Given the description of an element on the screen output the (x, y) to click on. 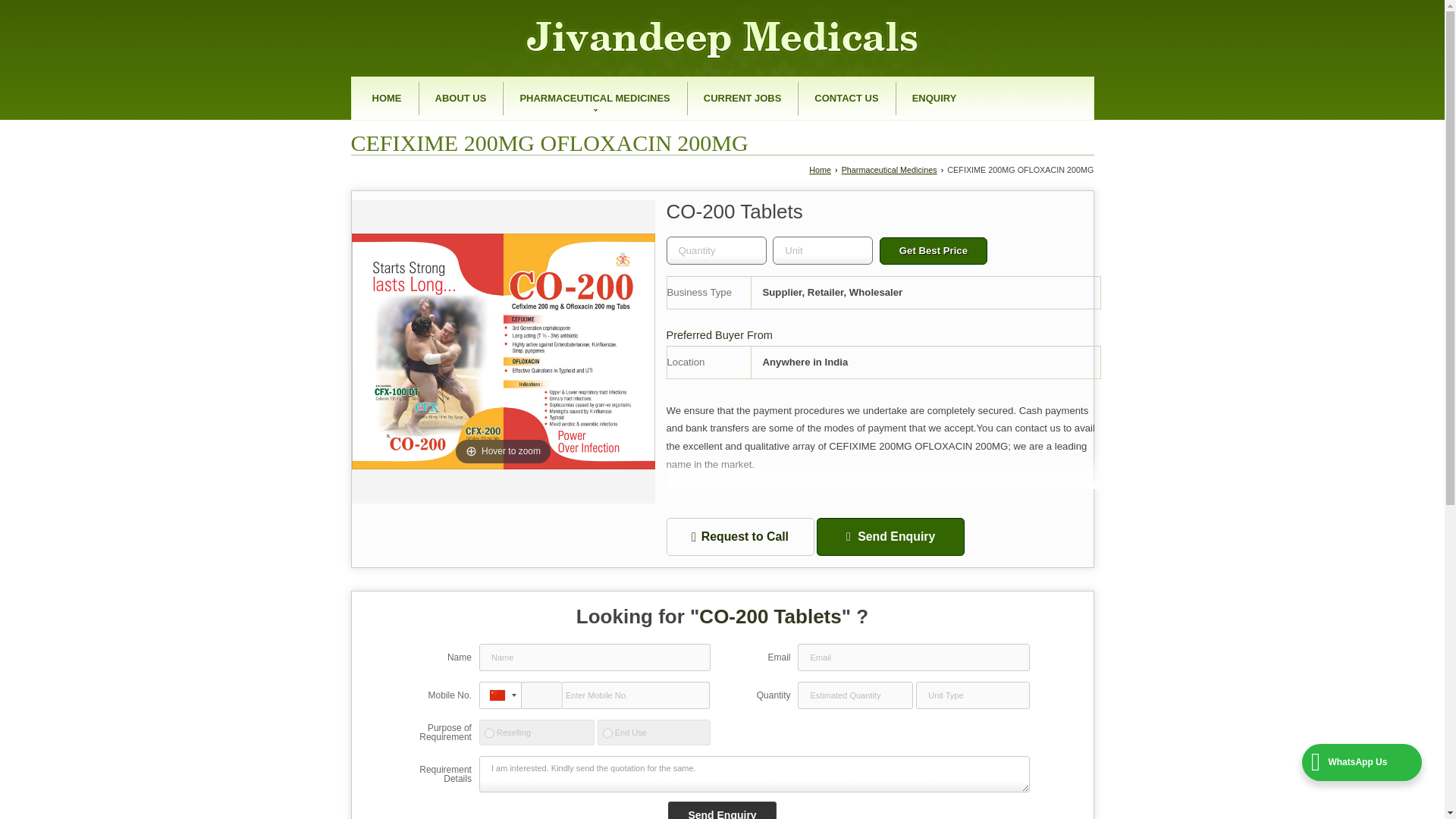
ABOUT US (461, 98)
Get Best Price (933, 250)
Pharmaceutical Medicines (593, 98)
End Use (607, 732)
CURRENT JOBS (742, 98)
Send Enquiry (722, 810)
Home (820, 169)
Current Jobs (742, 98)
CONTACT US (846, 98)
PHARMACEUTICAL MEDICINES (593, 98)
Send Enquiry (722, 810)
Pharmaceutical Medicines (889, 169)
Home (387, 98)
Enquiry (933, 98)
Request to Call (739, 536)
